Given the description of an element on the screen output the (x, y) to click on. 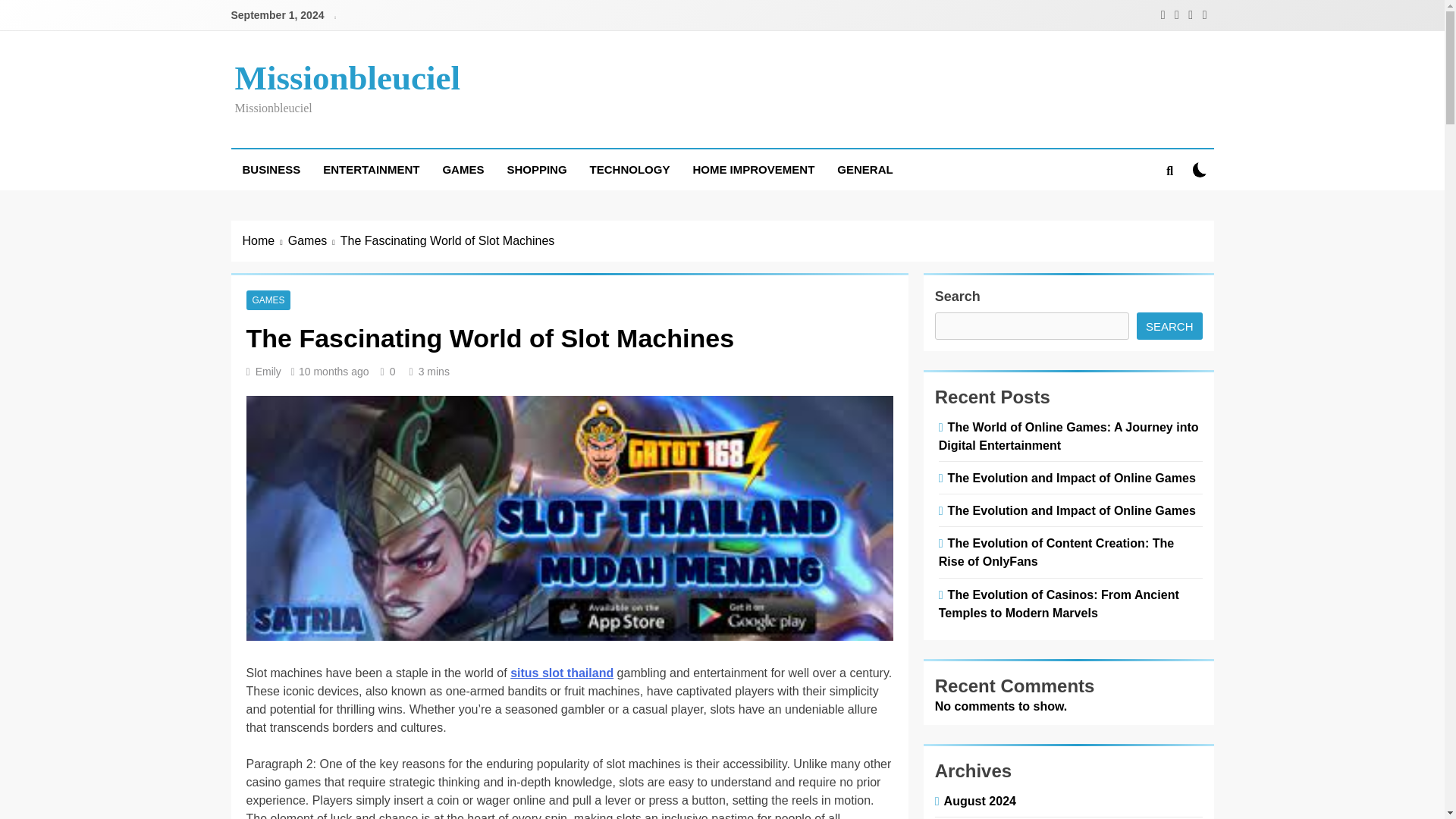
GAMES (267, 299)
Home (265, 240)
SEARCH (1169, 325)
Games (314, 240)
Missionbleuciel (347, 77)
10 months ago (333, 371)
TECHNOLOGY (629, 169)
The Evolution and Impact of Online Games (1069, 477)
HOME IMPROVEMENT (753, 169)
